Given the description of an element on the screen output the (x, y) to click on. 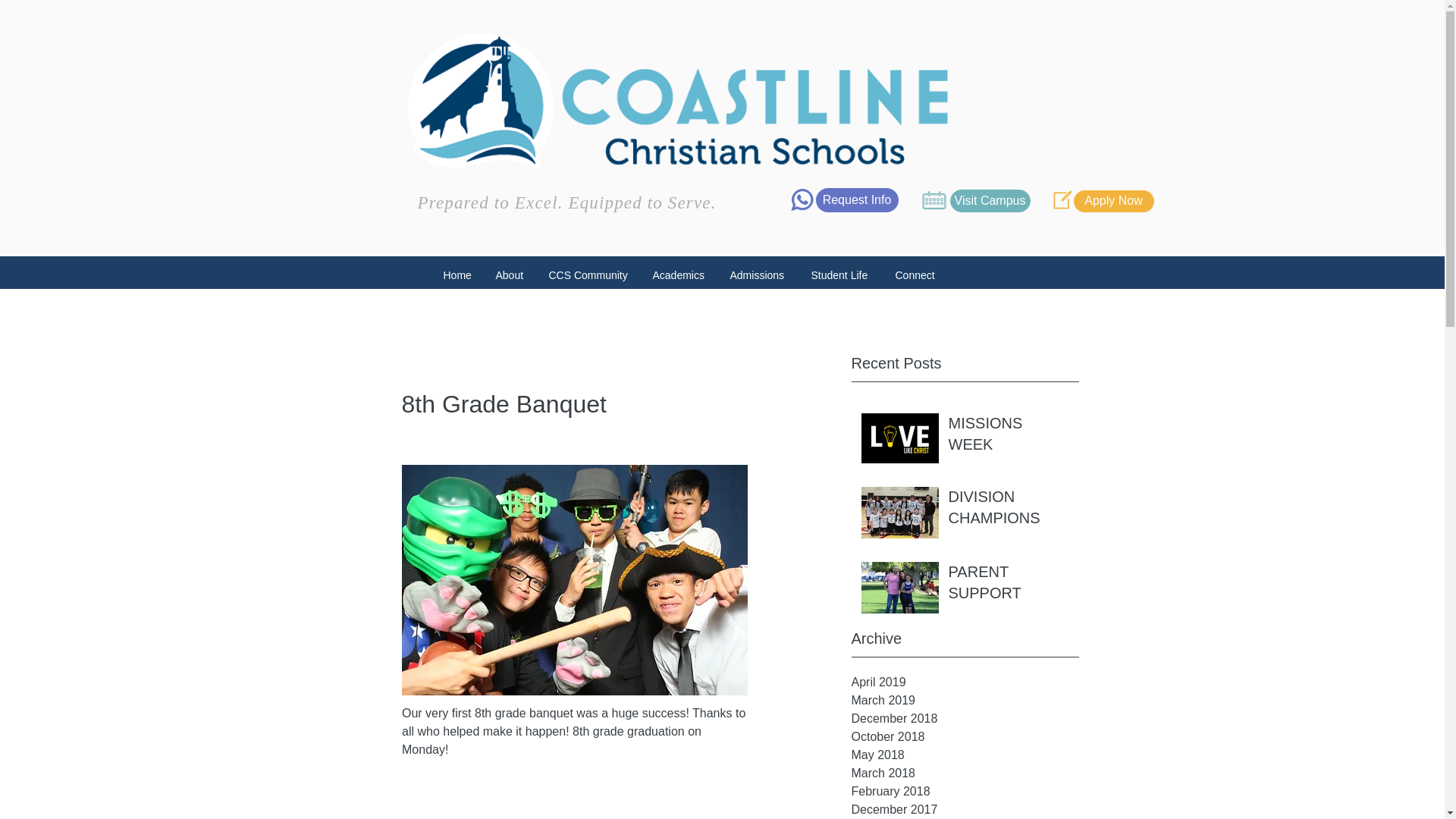
Admissions (759, 275)
Student Life (841, 275)
Request Info (856, 200)
Visit Campus (989, 200)
Home (458, 275)
About (510, 275)
Apply Now (1114, 201)
Academics (680, 275)
